Given the description of an element on the screen output the (x, y) to click on. 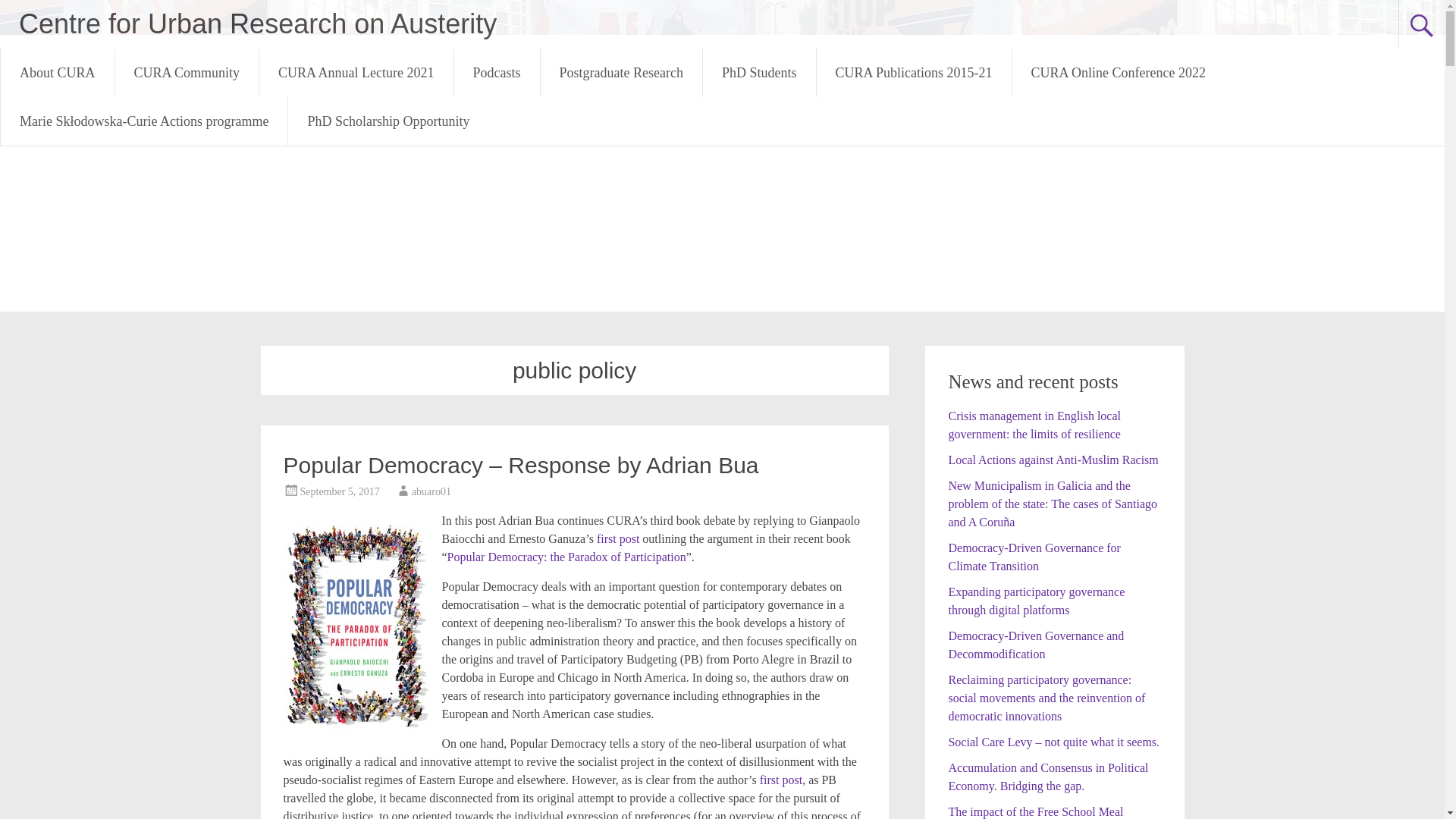
Centre for Urban Research on Austerity (257, 23)
About CURA (58, 72)
PhD Students (759, 72)
CURA Publications 2015-21 (913, 72)
abuaro01 (431, 491)
Podcasts (497, 72)
CURA Community (187, 72)
first post (781, 779)
Popular Democracy: the Paradox of Participation (565, 556)
Postgraduate Research (620, 72)
PhD Scholarship Opportunity (387, 121)
CURA Online Conference 2022 (1117, 72)
CURA Annual Lecture 2021 (355, 72)
September 5, 2017 (339, 491)
first post (617, 538)
